Given the description of an element on the screen output the (x, y) to click on. 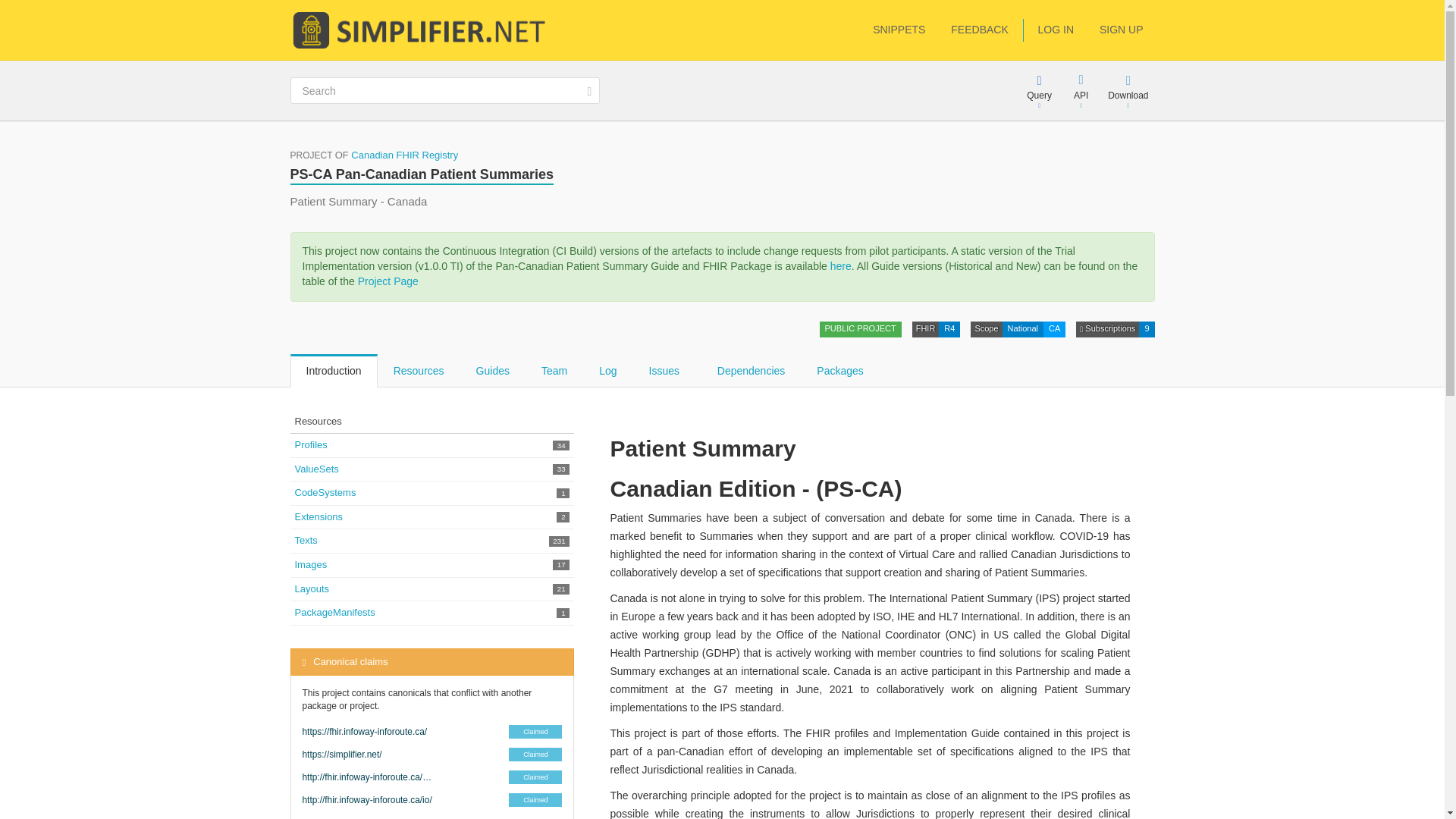
Go to Simplifier Home (421, 29)
Layouts (311, 588)
Packages (839, 369)
CodeSystems (324, 491)
Texts (305, 540)
PackageManifests (334, 612)
Project Page (388, 281)
LOG IN (1055, 30)
Dependencies (751, 369)
Team (554, 369)
SNIPPETS (898, 30)
Images (310, 564)
Log (607, 369)
Profiles (310, 444)
here (840, 265)
